Given the description of an element on the screen output the (x, y) to click on. 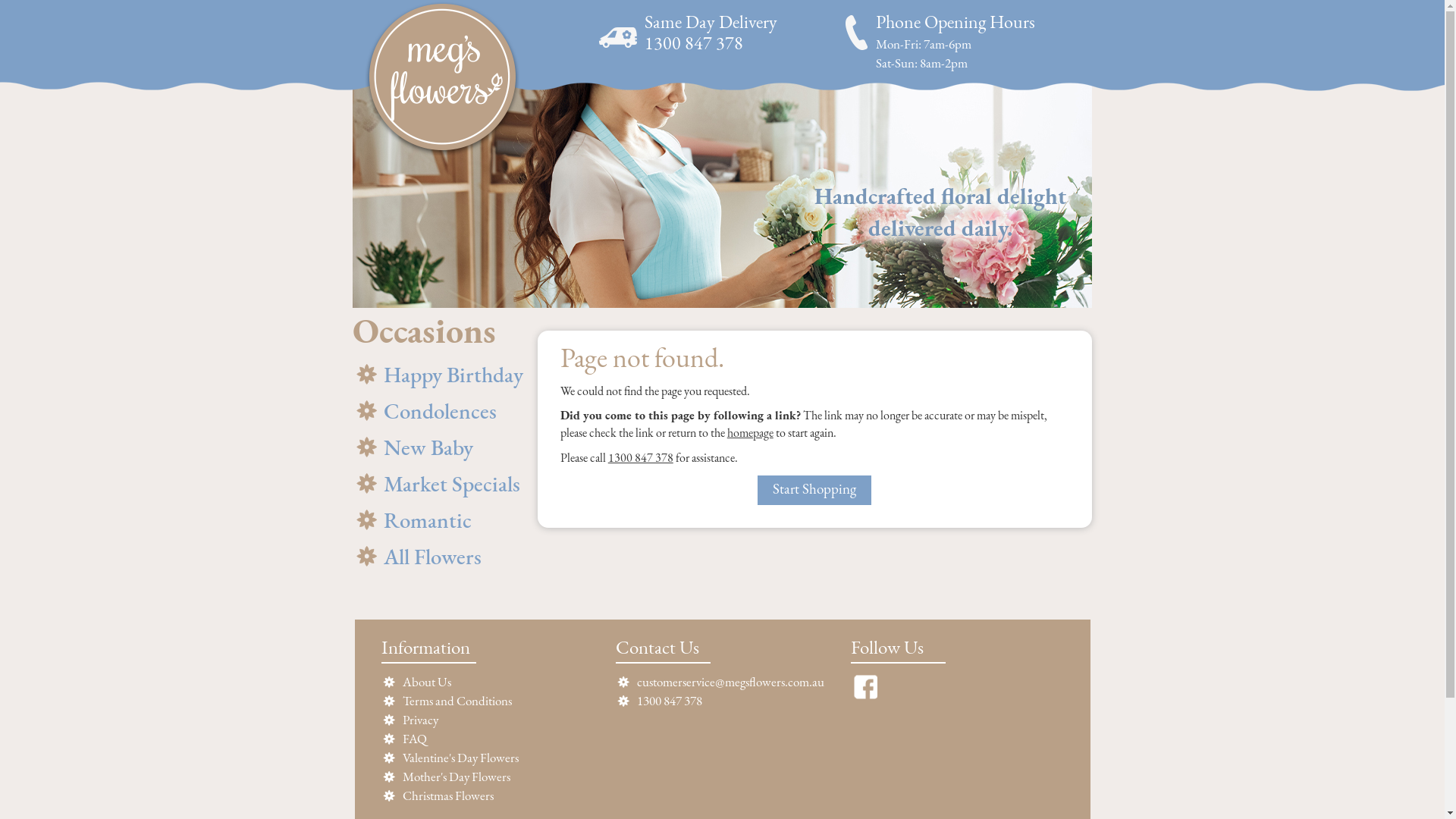
1300 847 378 Element type: text (640, 458)
Start Shopping Element type: text (814, 490)
Market Specials Element type: text (439, 483)
Handcrafted floral delight delivered daily. Element type: text (722, 194)
homepage Element type: text (750, 433)
customerservice@megsflowers.com.au Element type: text (730, 682)
FAQ Element type: text (413, 739)
Valentine's Day Flowers Element type: text (459, 758)
Terms and Conditions Element type: text (456, 701)
Condolences Element type: text (439, 410)
1300 847 378 Element type: text (669, 701)
Privacy Element type: text (419, 720)
Romantic Element type: text (439, 520)
Happy Birthday Element type: text (439, 374)
New Baby Element type: text (439, 447)
Christmas Flowers Element type: text (446, 796)
Mother's Day Flowers Element type: text (455, 777)
All Flowers Element type: text (439, 556)
About Us Element type: text (425, 682)
